Given the description of an element on the screen output the (x, y) to click on. 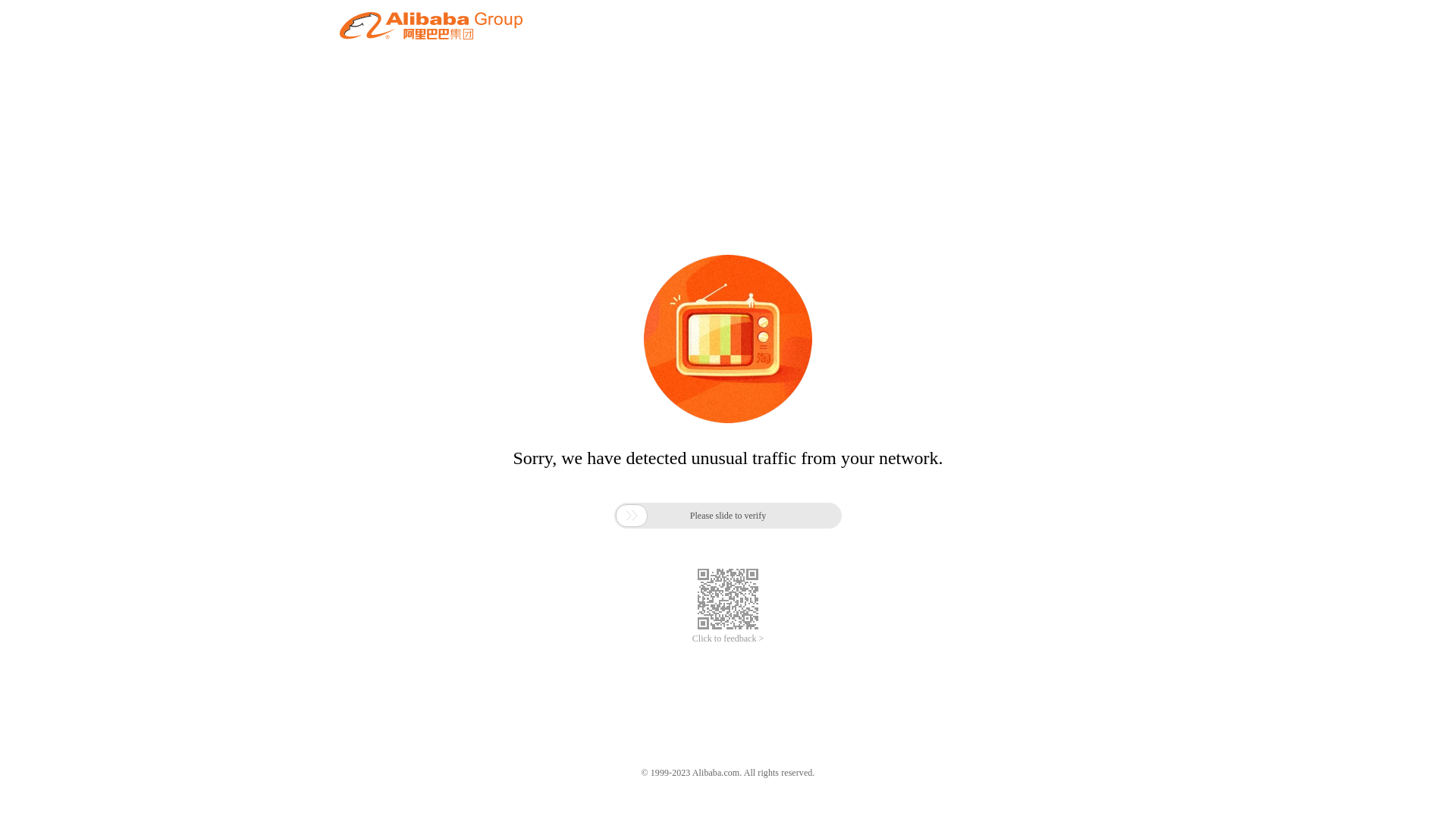
Click to feedback > Element type: text (727, 638)
